Given the description of an element on the screen output the (x, y) to click on. 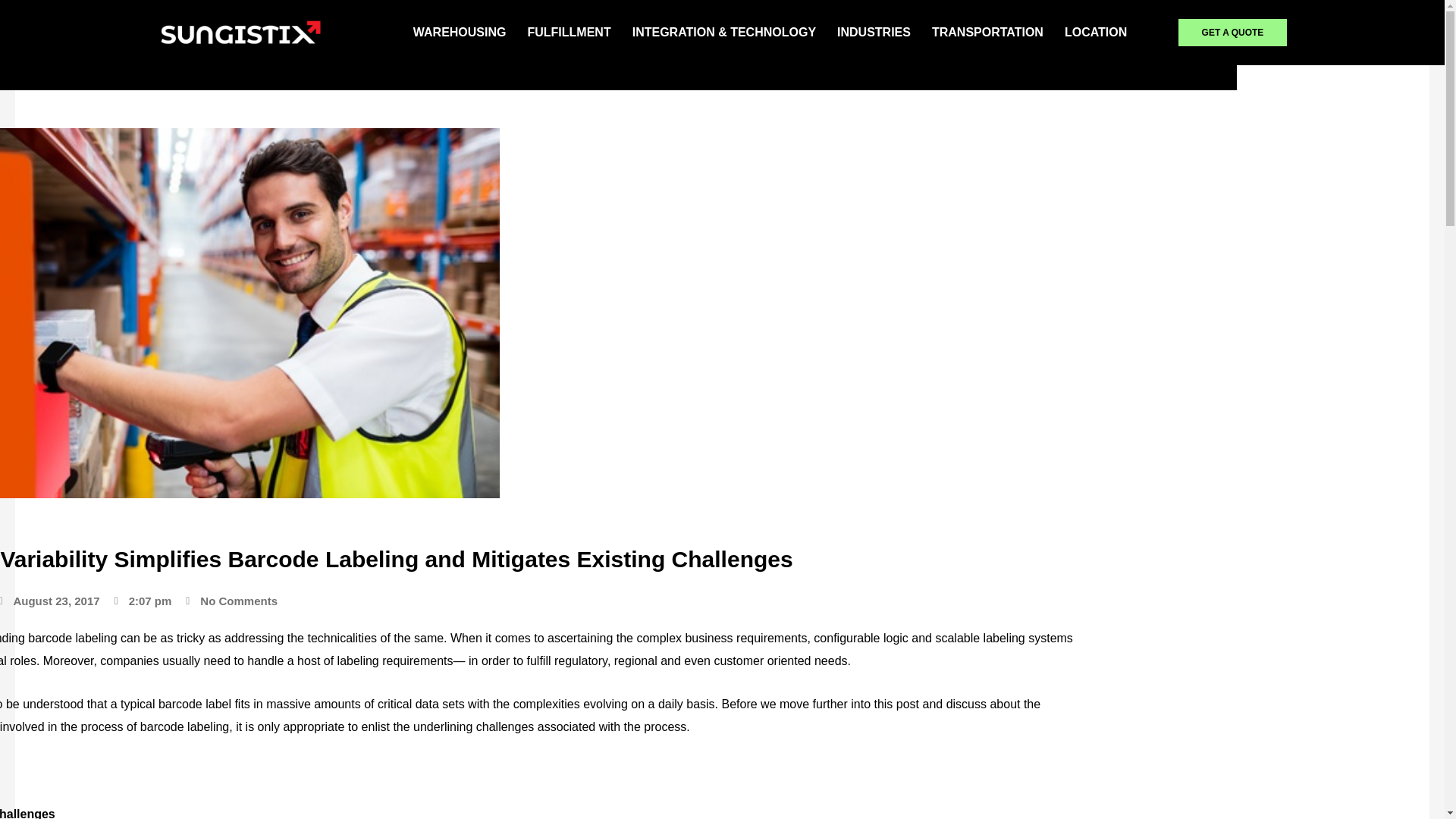
FULFILLMENT (568, 32)
TRANSPORTATION (987, 32)
WAREHOUSING (459, 32)
LOCATION (1095, 32)
INDUSTRIES (874, 32)
No Comments (232, 600)
August 23, 2017 (49, 600)
GET A QUOTE (1232, 31)
